Given the description of an element on the screen output the (x, y) to click on. 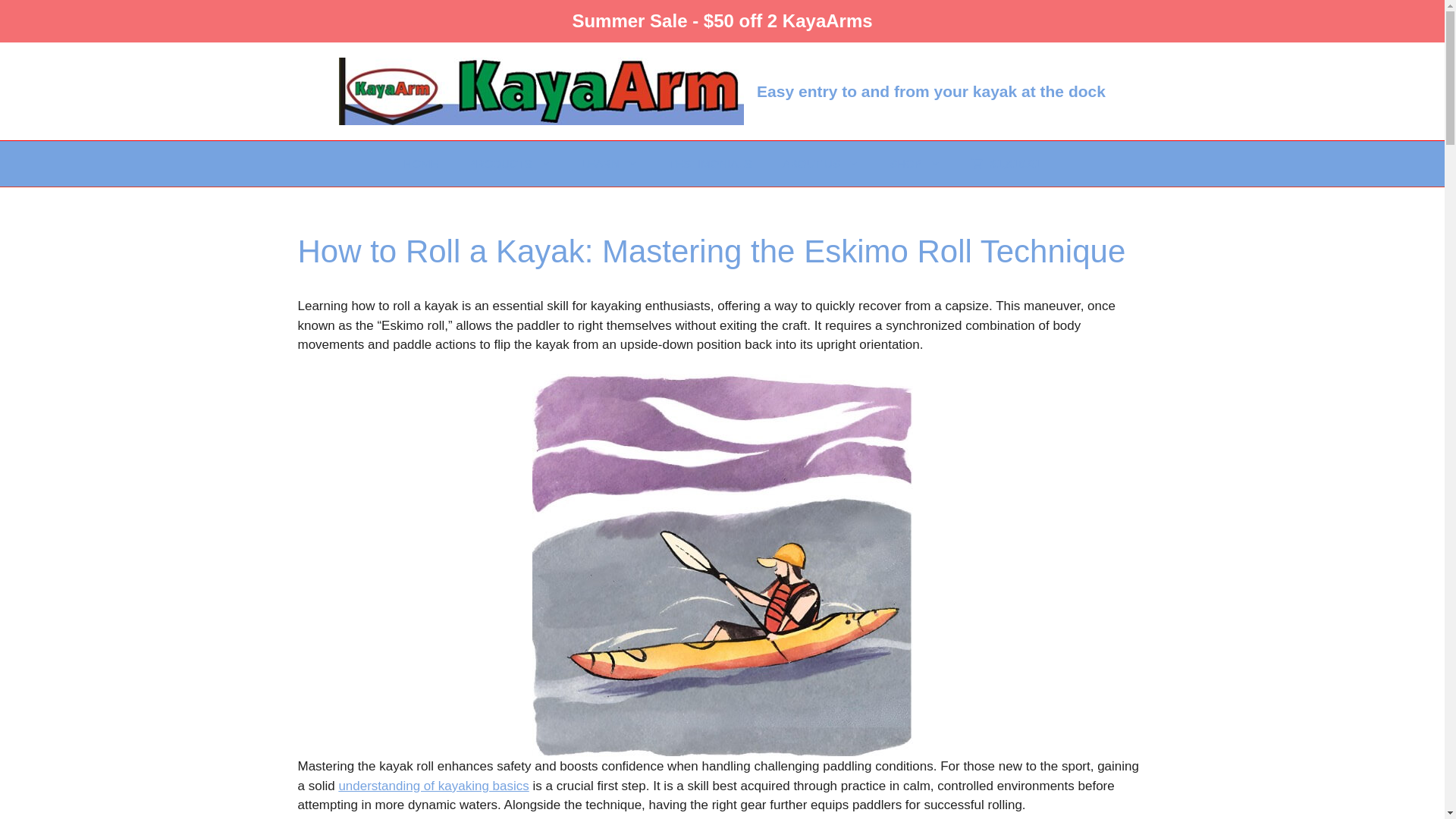
LEARN (609, 163)
TESTIMONIALS (710, 163)
PRODUCTS (509, 163)
ABOUT US (821, 163)
HOME (420, 163)
SHOP (915, 163)
View your shopping cart (1006, 163)
understanding of kayaking basics (432, 785)
